Given the description of an element on the screen output the (x, y) to click on. 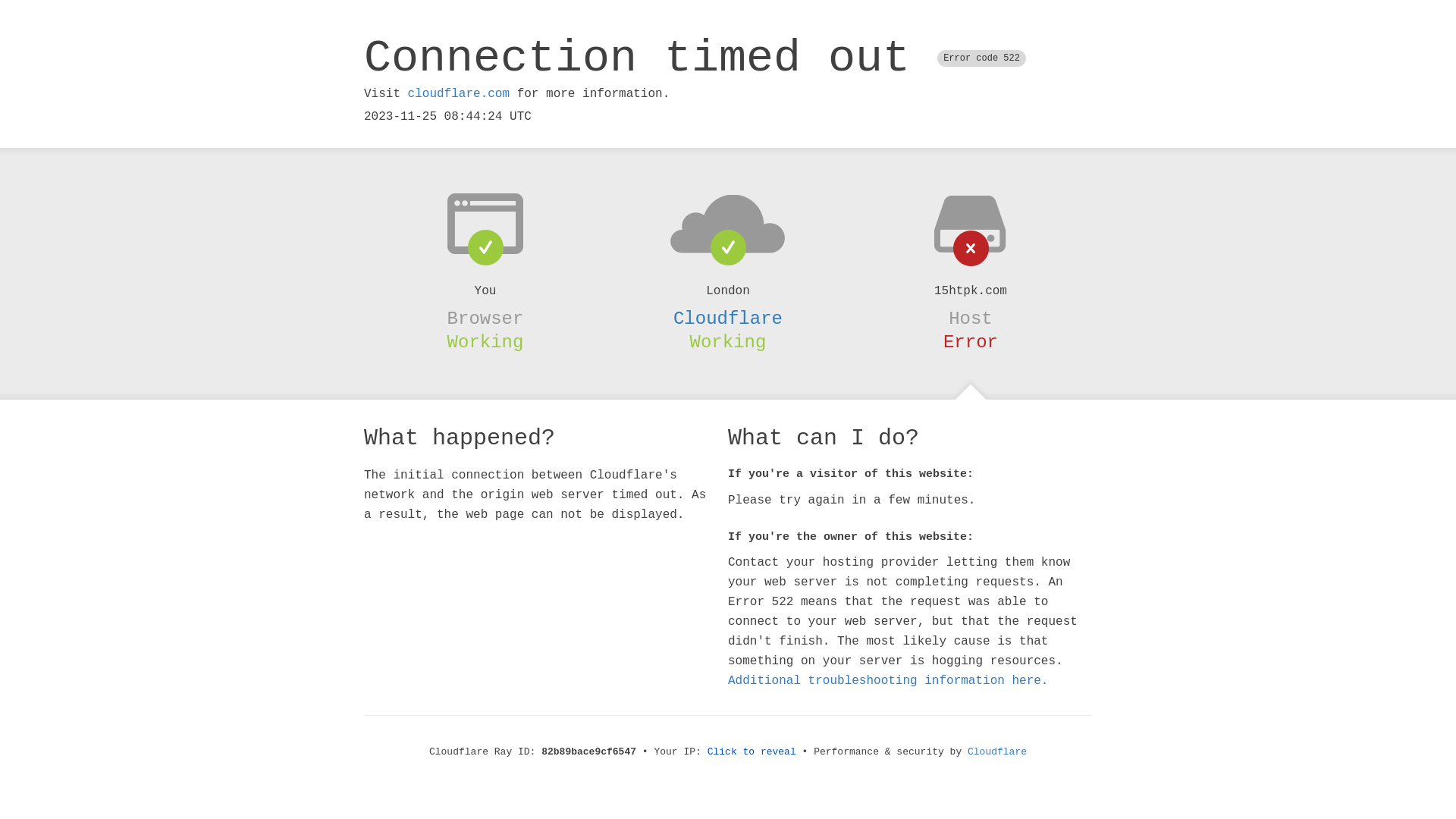
Cloudflare Element type: text (996, 751)
Additional troubleshooting information here. Element type: text (888, 680)
Click to reveal Element type: text (751, 751)
cloudflare.com Element type: text (458, 93)
Cloudflare Element type: text (727, 318)
